Given the description of an element on the screen output the (x, y) to click on. 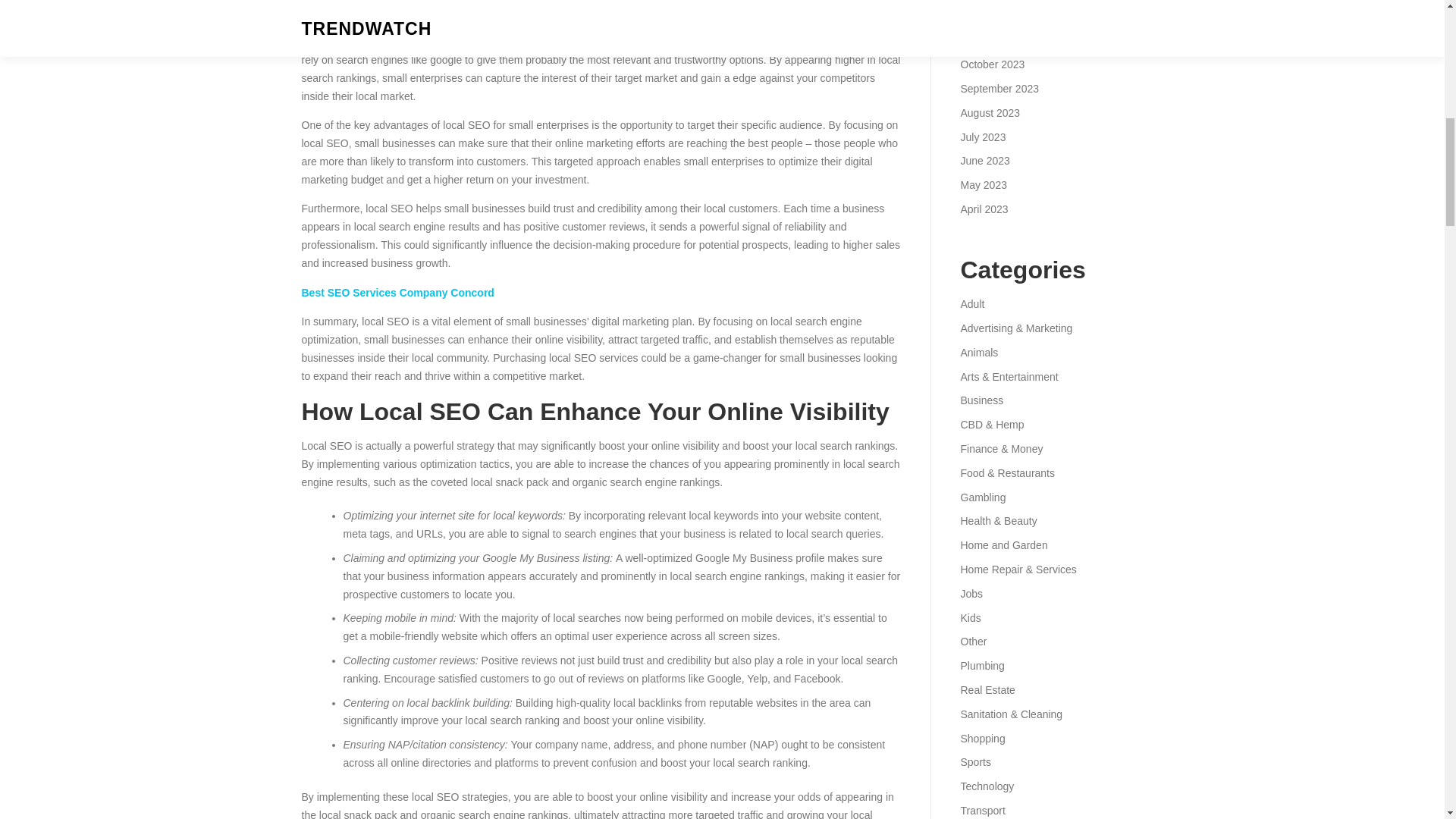
Adult (971, 304)
Animals (978, 352)
October 2023 (992, 64)
December 2023 (997, 16)
July 2023 (982, 137)
May 2023 (982, 184)
April 2023 (983, 209)
September 2023 (999, 88)
August 2023 (989, 112)
June 2023 (984, 160)
